Given the description of an element on the screen output the (x, y) to click on. 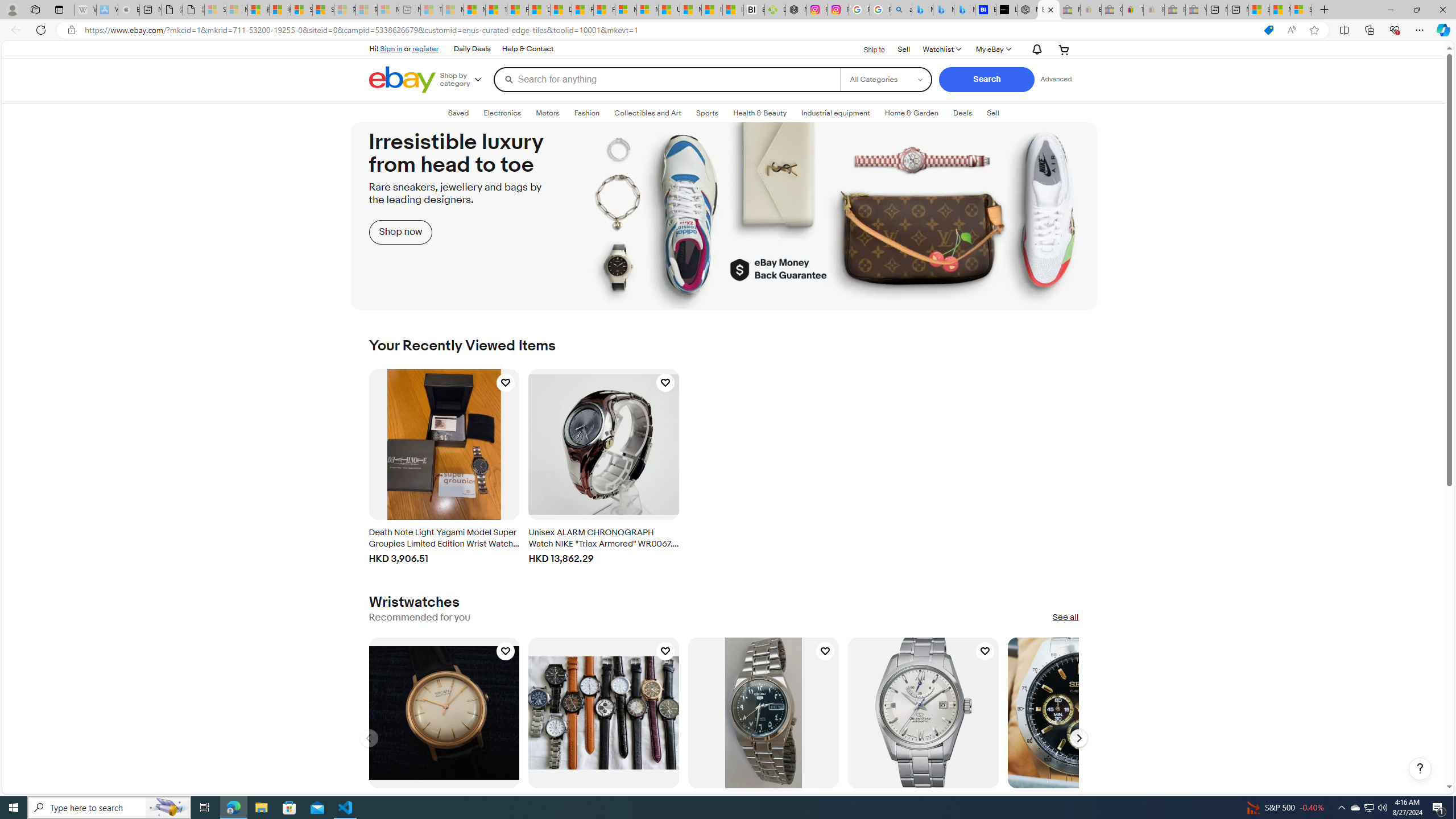
Advanced Search (1056, 78)
Ship to (866, 48)
eBay Home (401, 79)
Sell (992, 112)
Marine life - MSN - Sleeping (452, 9)
Daily Deals (472, 49)
Select a category for search (885, 78)
Ship to (866, 49)
Descarga Driver Updater (775, 9)
Fashion (586, 112)
